Given the description of an element on the screen output the (x, y) to click on. 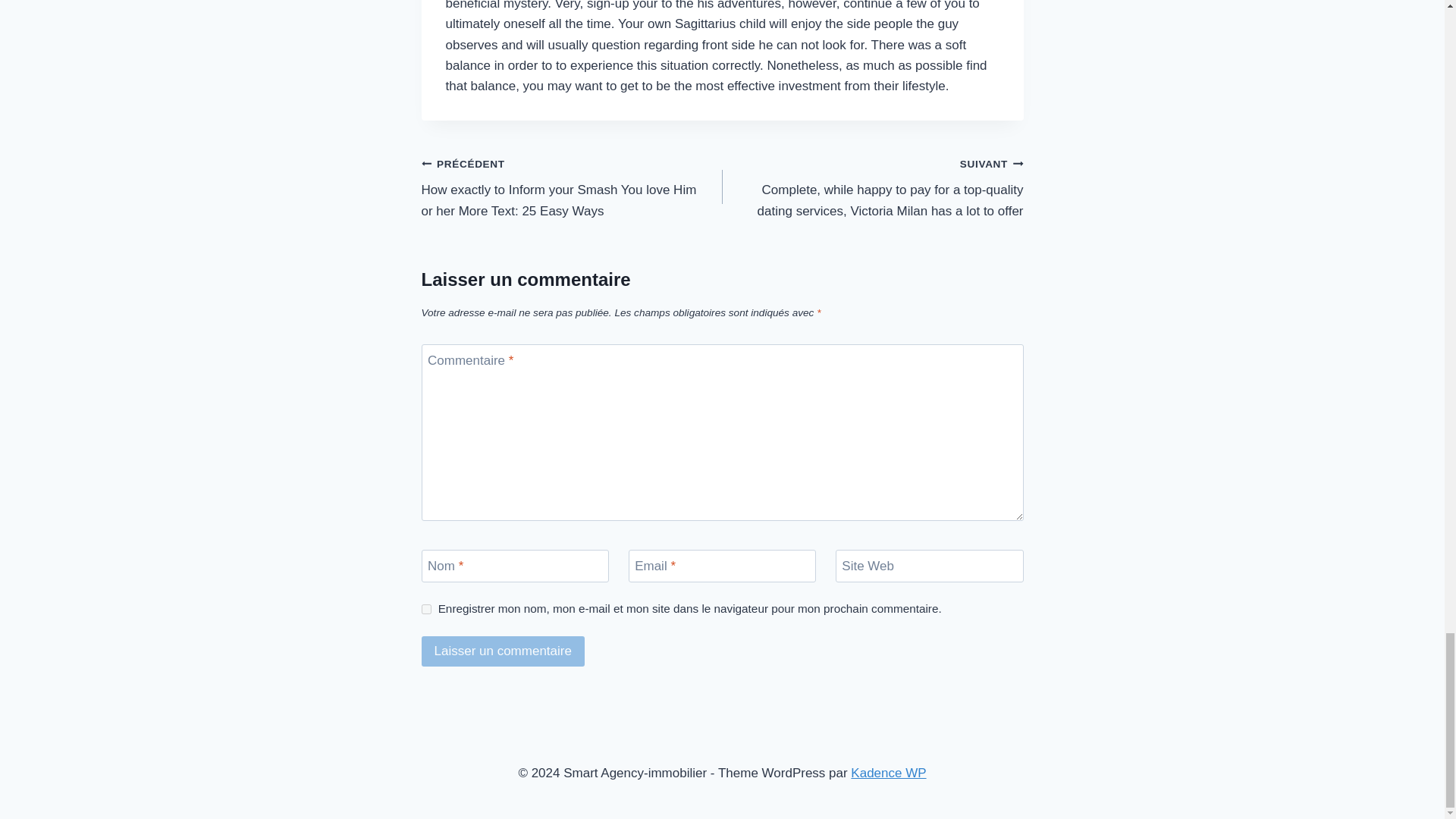
Laisser un commentaire (503, 651)
Kadence WP (888, 772)
Laisser un commentaire (503, 651)
yes (426, 609)
